Given the description of an element on the screen output the (x, y) to click on. 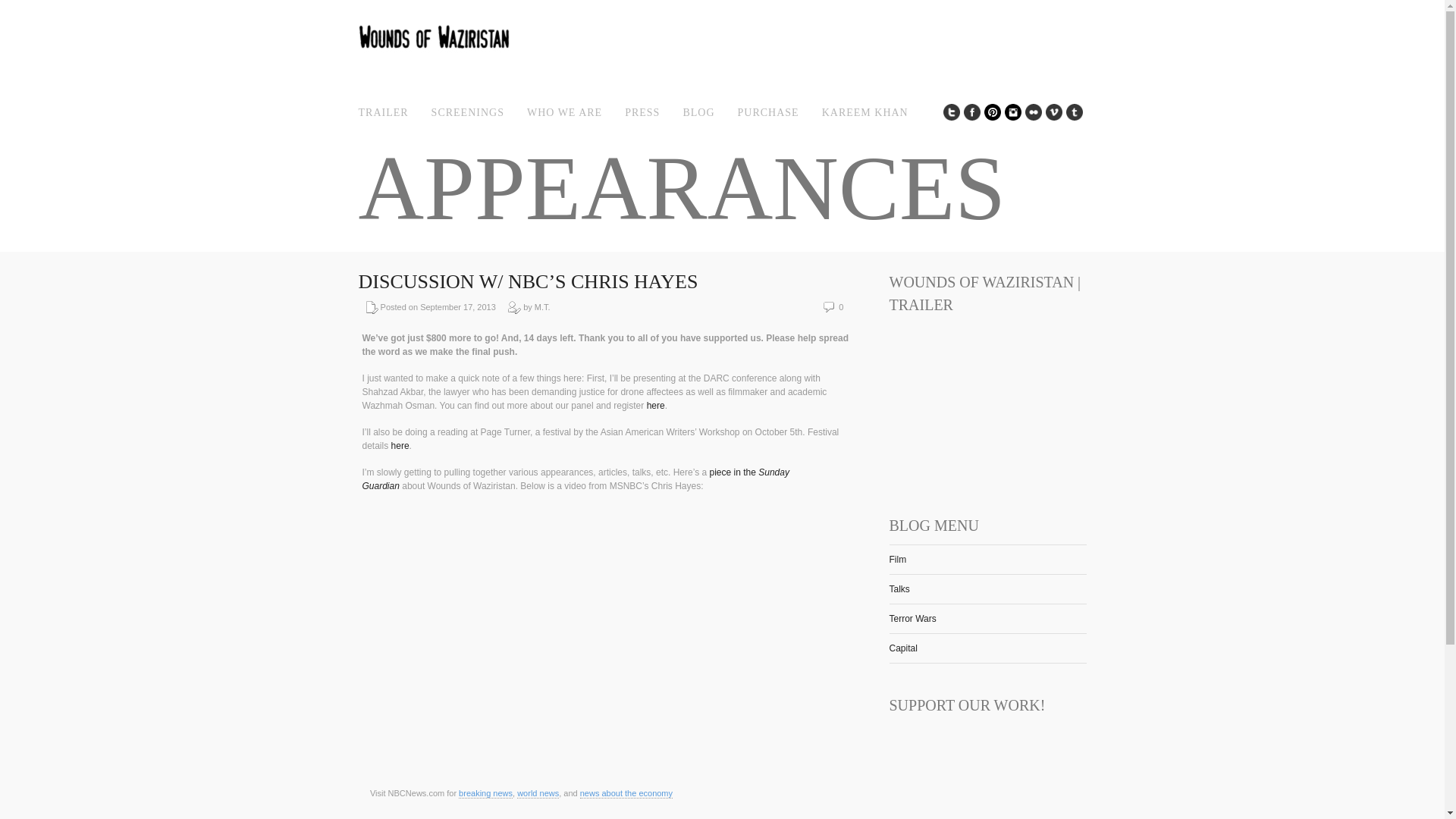
The Drone Effect: Ghosts, rubble and loss in Waziristan (575, 478)
TRAILER (382, 112)
breaking news (485, 793)
here (400, 445)
Talks (898, 588)
The Drone Effect: Ghosts, rubble and loss in Waziristan (734, 471)
SCREENINGS (466, 112)
Film (896, 559)
Terror Wars (912, 618)
WHO WE ARE (564, 112)
Capital (902, 647)
news about the economy (625, 793)
KAREEM KHAN (865, 112)
world news (537, 793)
PRESS (641, 112)
